Given the description of an element on the screen output the (x, y) to click on. 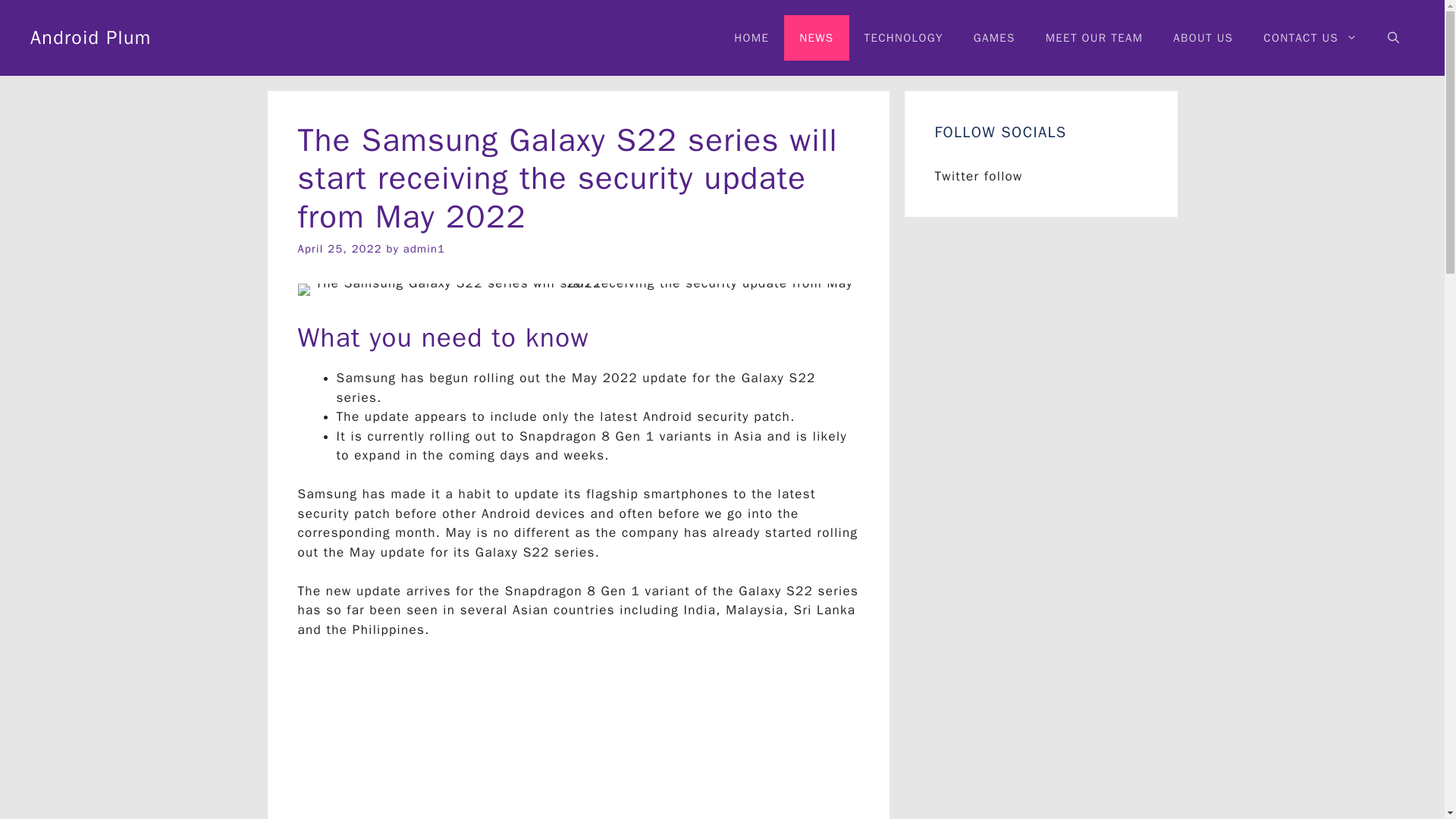
NEWS (816, 37)
CONTACT US (1310, 37)
ABOUT US (1202, 37)
GAMES (994, 37)
MEET OUR TEAM (1094, 37)
admin1 (424, 248)
HOME (751, 37)
View all posts by admin1 (424, 248)
TECHNOLOGY (903, 37)
Android Plum (90, 37)
